Given the description of an element on the screen output the (x, y) to click on. 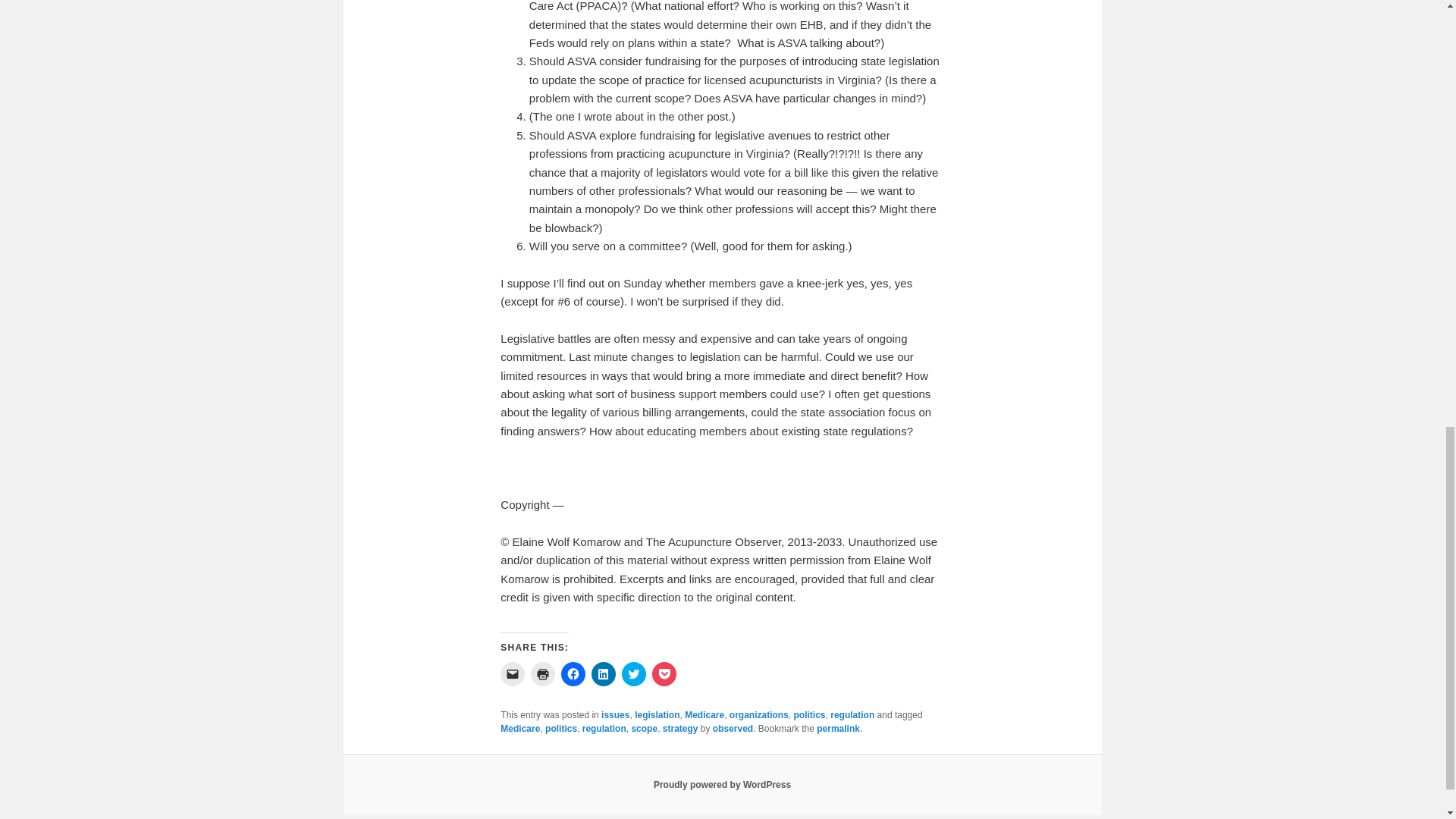
Click to share on Pocket (664, 673)
legislation (656, 715)
organizations (759, 715)
observed (732, 728)
regulation (852, 715)
Click to share on LinkedIn (603, 673)
issues (614, 715)
scope (644, 728)
politics (809, 715)
strategy (680, 728)
